Given the description of an element on the screen output the (x, y) to click on. 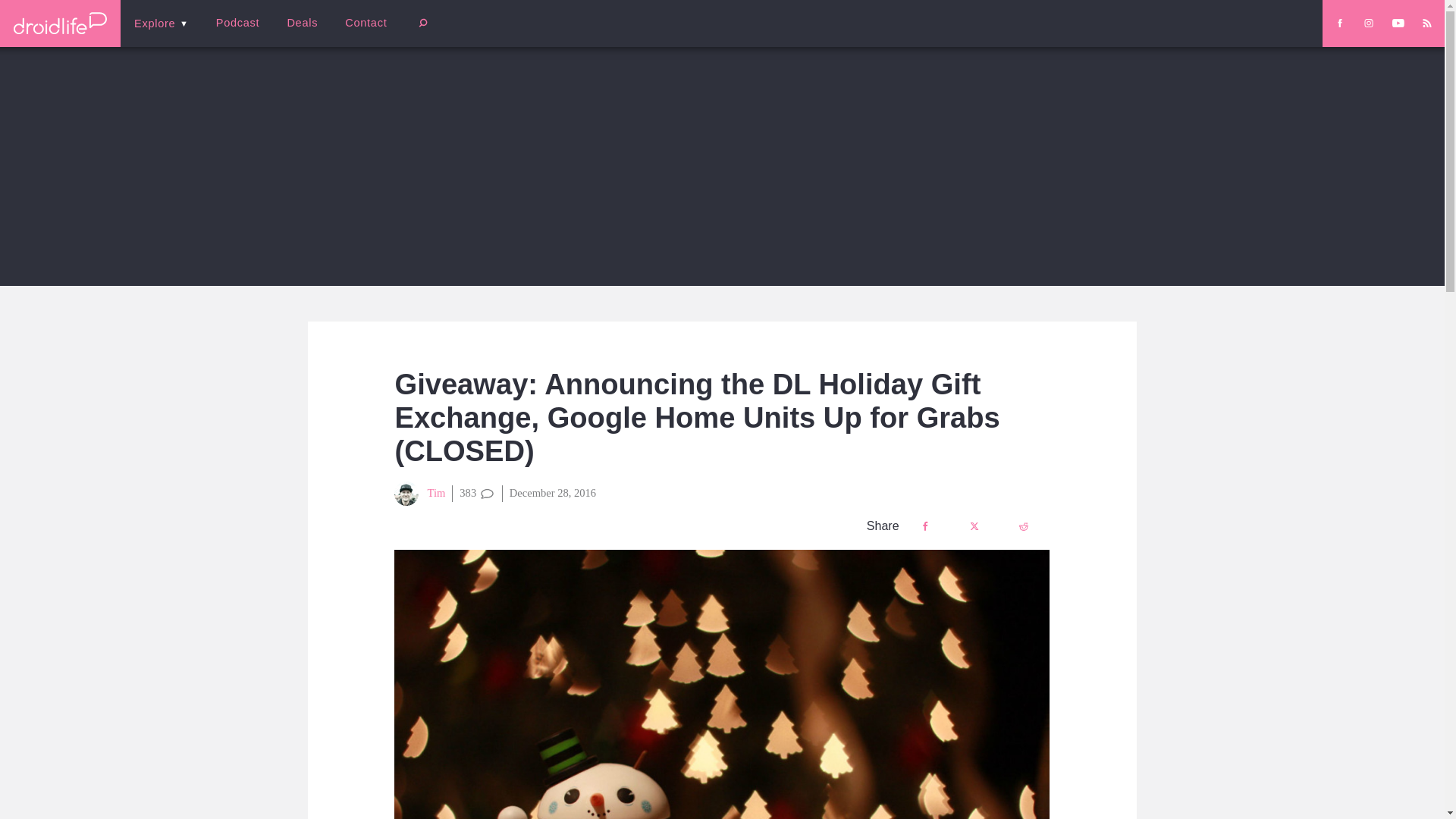
Droid Life on YouTube (1398, 23)
Droid Life on Instagram (1368, 23)
Contact (365, 23)
Droid Life RSS (1426, 23)
Explore (161, 23)
Podcast (237, 23)
Droid Life on Facebook (1339, 23)
Deals (302, 23)
Beginners' Guide (360, 33)
Tim (419, 493)
